Given the description of an element on the screen output the (x, y) to click on. 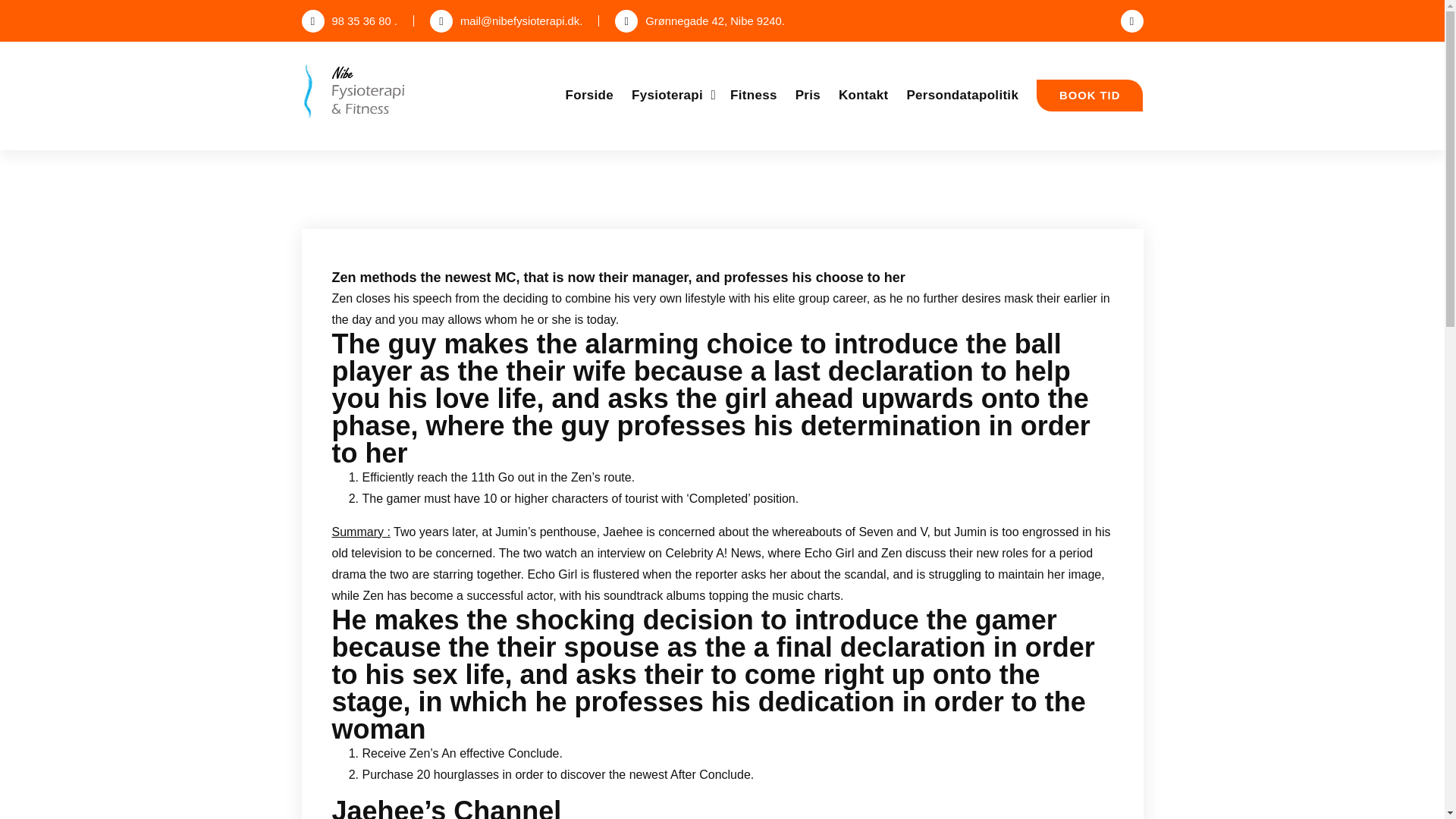
Fitness (753, 95)
Pris (807, 95)
Fitness (753, 95)
Pris (807, 95)
Persondatapolitik (961, 95)
Fysioterapi (671, 95)
Fysioterapi (671, 95)
Kontakt (863, 95)
Kontakt (863, 95)
BOOK TID (1089, 95)
98 35 36 80 . (349, 21)
Persondatapolitik (961, 95)
Forside (590, 95)
Forside (590, 95)
